Given the description of an element on the screen output the (x, y) to click on. 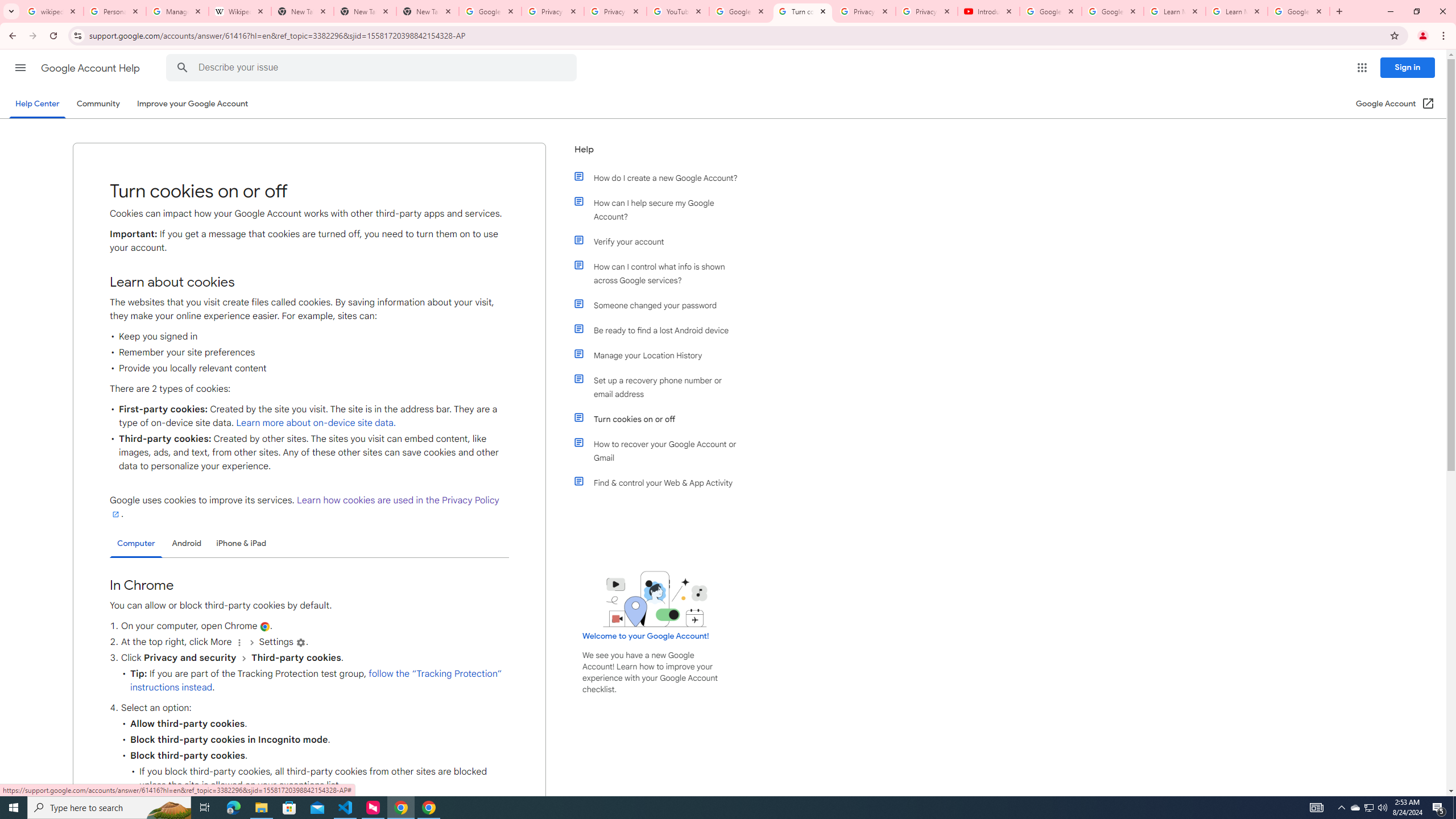
New Tab (427, 11)
iPhone & iPad (240, 542)
Introduction | Google Privacy Policy - YouTube (988, 11)
Google Account Help (740, 11)
Someone changed your password (661, 305)
Learn more about on-device site data. (315, 423)
